Given the description of an element on the screen output the (x, y) to click on. 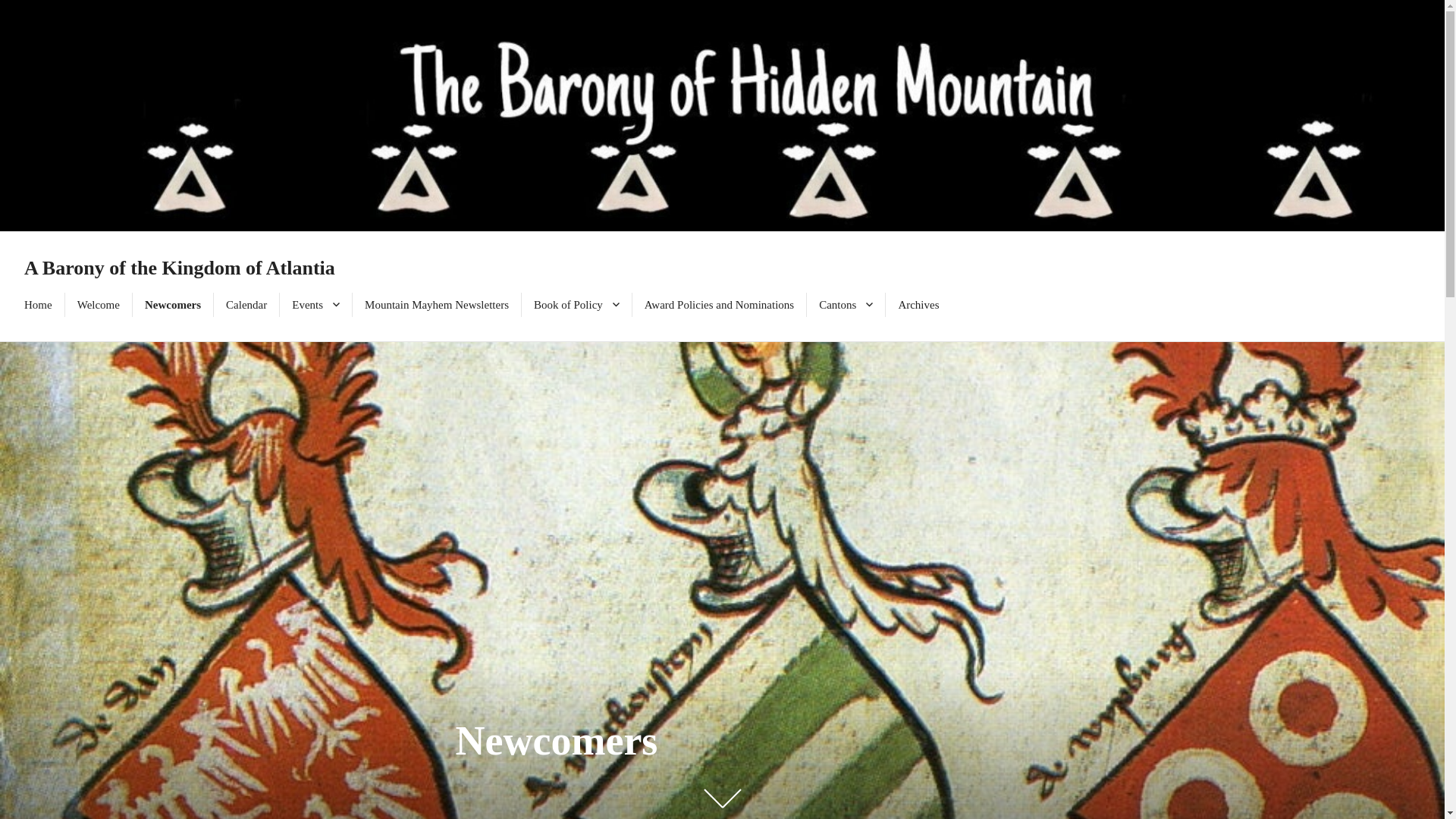
Archives (917, 304)
Newcomers (172, 304)
Cantons (845, 304)
Welcome (98, 304)
Scroll down to see more content (721, 798)
A Barony of the Kingdom of Atlantia (179, 268)
Award Policies and Nominations (718, 304)
Home (37, 304)
Book of Policy (576, 304)
Events (315, 304)
Scroll down to see more content (721, 798)
Calendar (246, 304)
Mountain Mayhem Newsletters (436, 304)
Scroll down to see more content (721, 798)
